Given the description of an element on the screen output the (x, y) to click on. 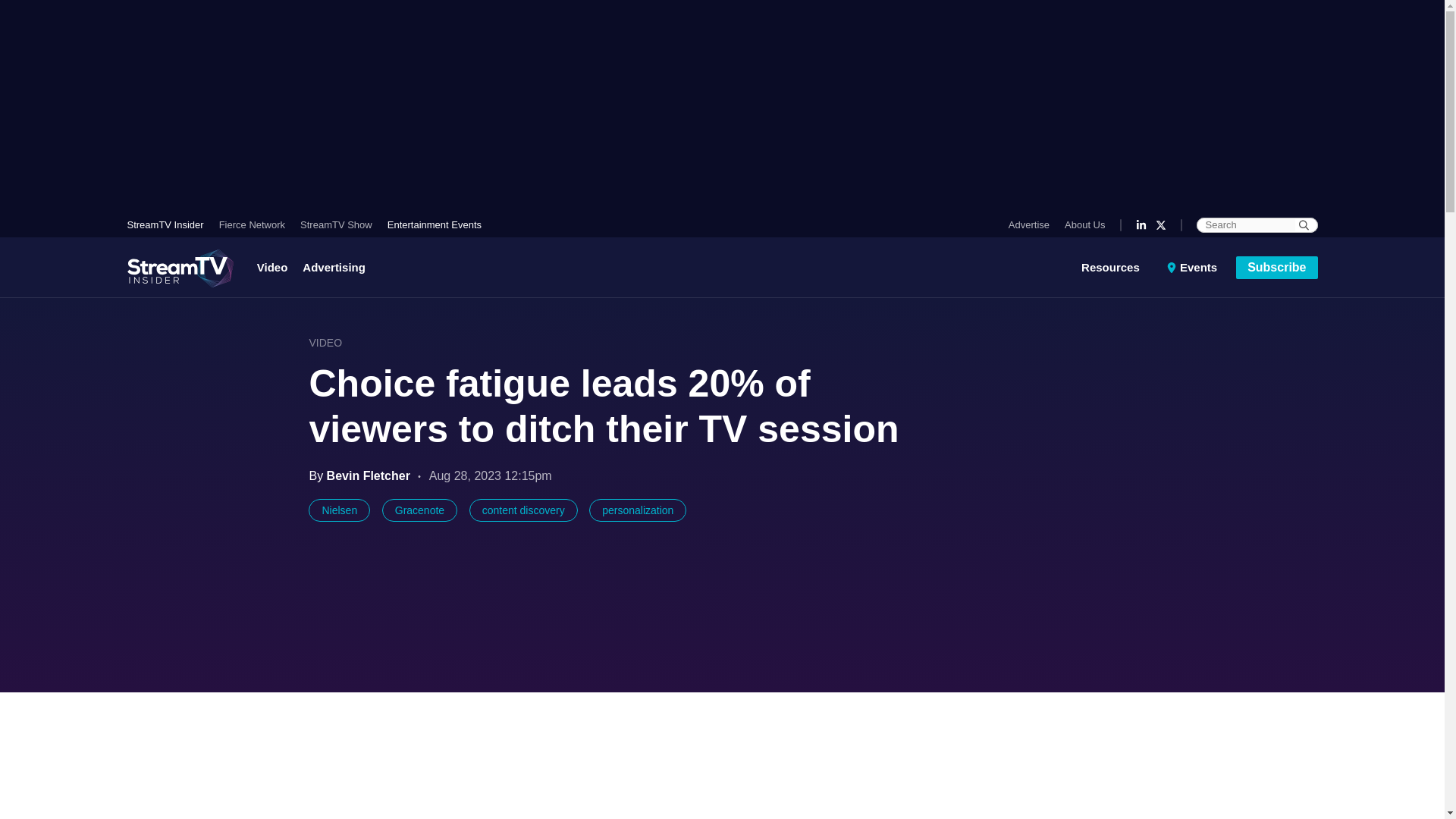
VIDEO (325, 342)
StreamTV Insider (169, 225)
Resources (1119, 266)
About Us (1081, 225)
Bevin Fletcher (369, 475)
StreamTV Show (336, 225)
Nielsen (338, 509)
Gracenote (419, 509)
Advertising (333, 266)
Subscribe (1276, 267)
Entertainment Events (430, 225)
Advertising (333, 266)
Entertainment Events (430, 225)
StreamTV Insider (169, 225)
Subscribe (1276, 267)
